Given the description of an element on the screen output the (x, y) to click on. 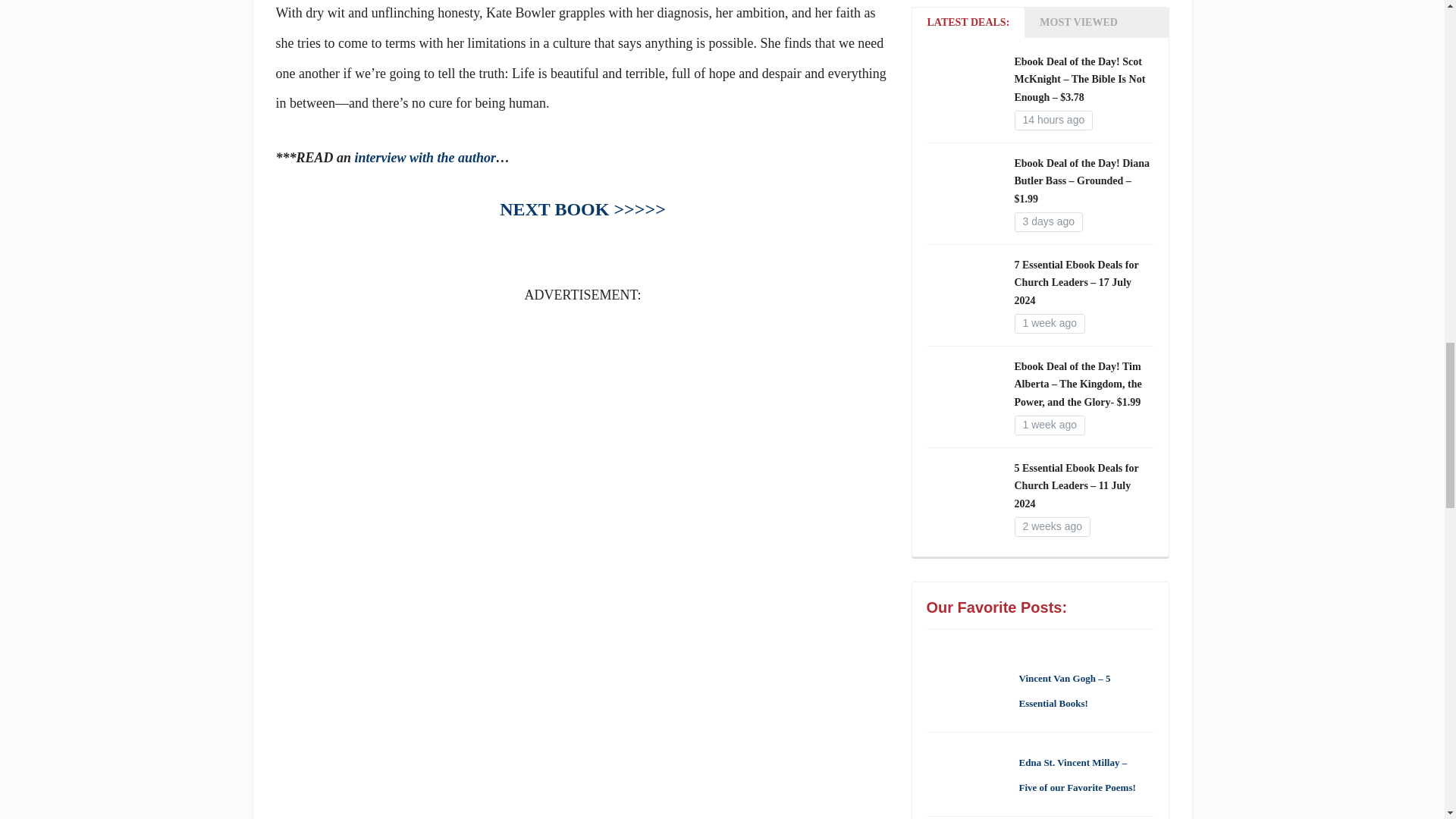
Most Viewed (1078, 21)
interview with the author (425, 157)
Latest Deals: (968, 21)
